Given the description of an element on the screen output the (x, y) to click on. 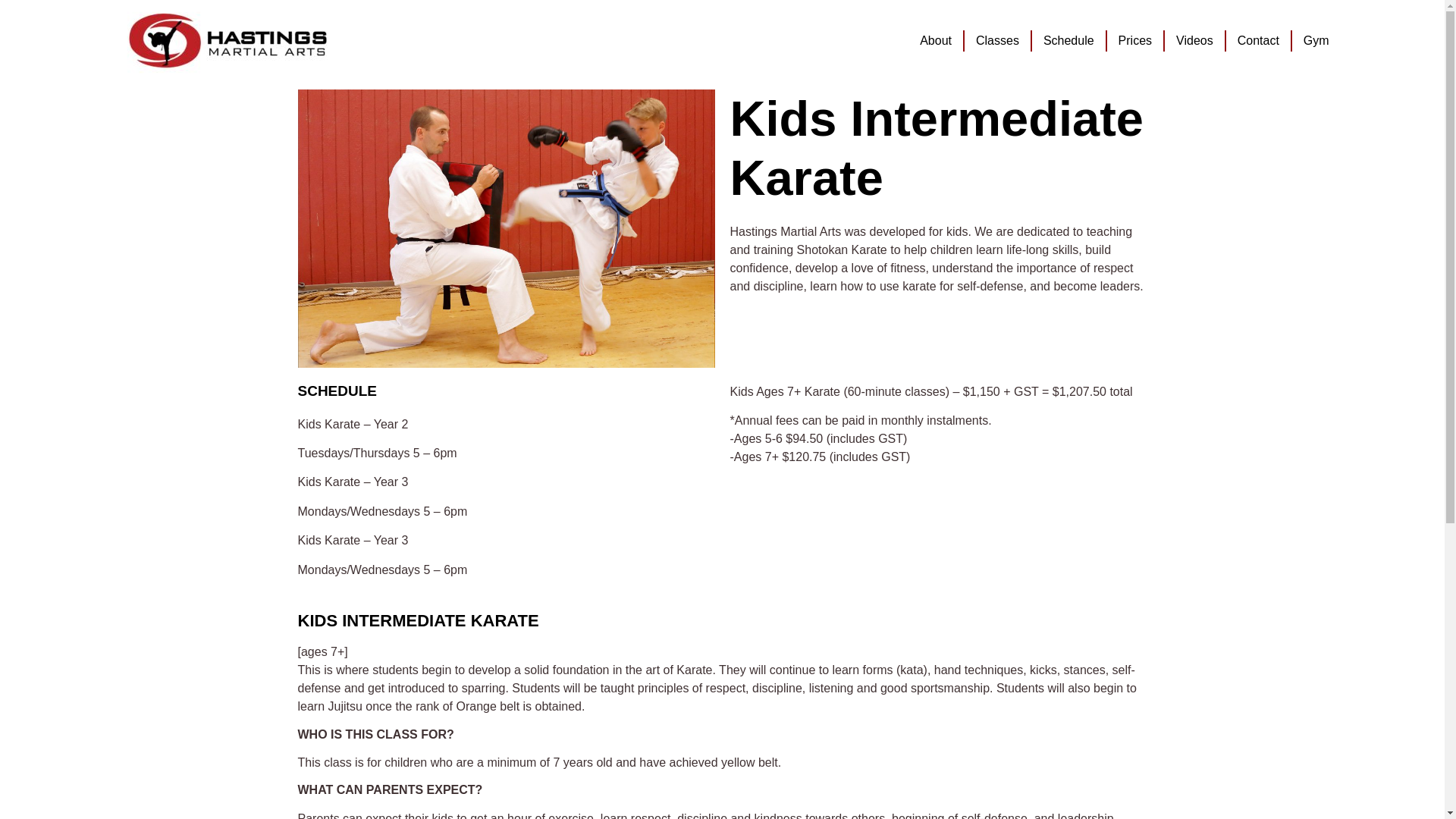
Classes (997, 40)
Contact (1258, 40)
Schedule (1068, 40)
About (936, 40)
Gym (1316, 40)
Prices (1134, 40)
Videos (1194, 40)
